Given the description of an element on the screen output the (x, y) to click on. 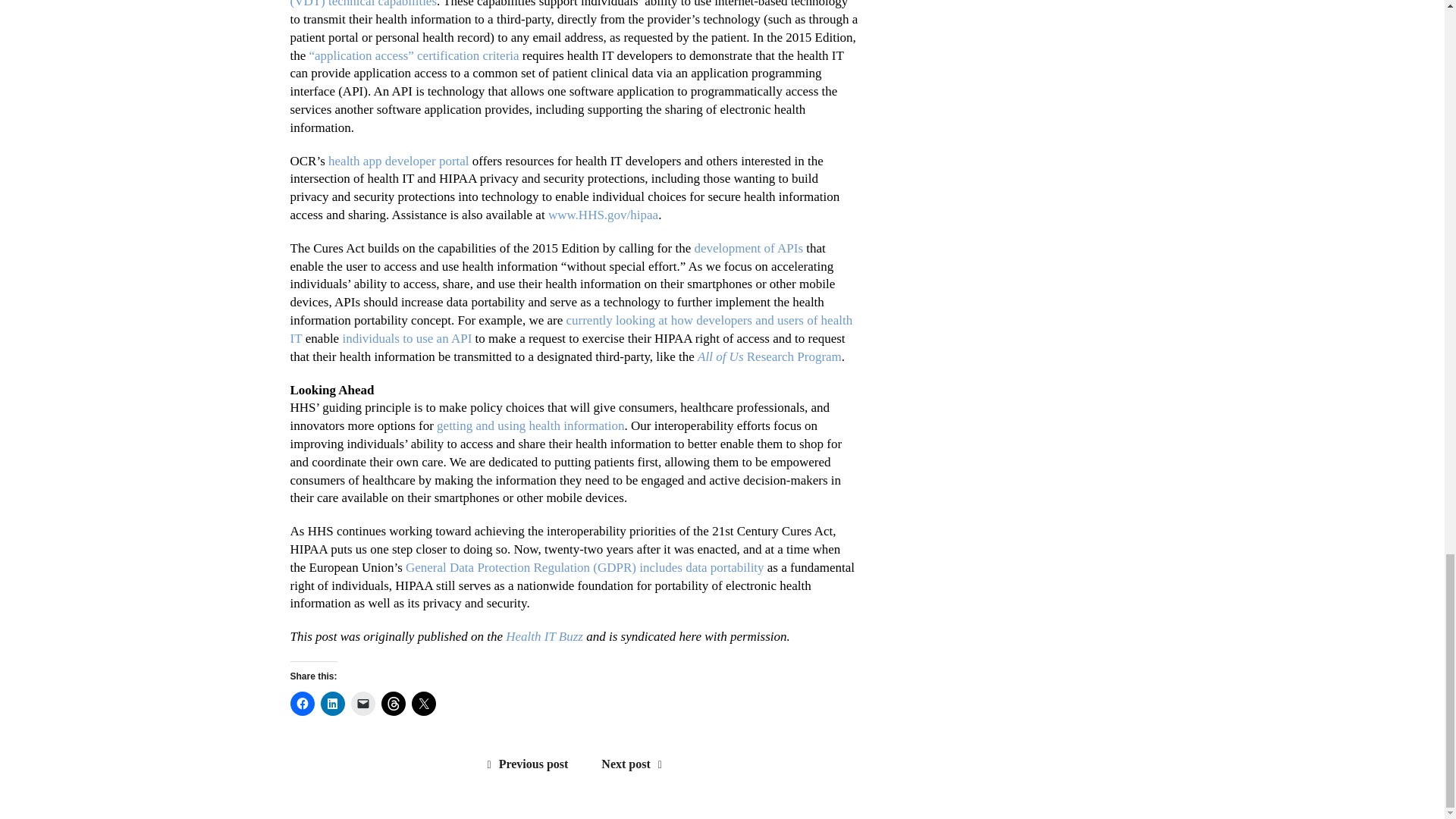
Click to share on LinkedIn (331, 702)
Click to email a link to a friend (362, 702)
Click to share on X (422, 702)
Click to share on Threads (392, 702)
Click to share on Facebook (301, 702)
